Given the description of an element on the screen output the (x, y) to click on. 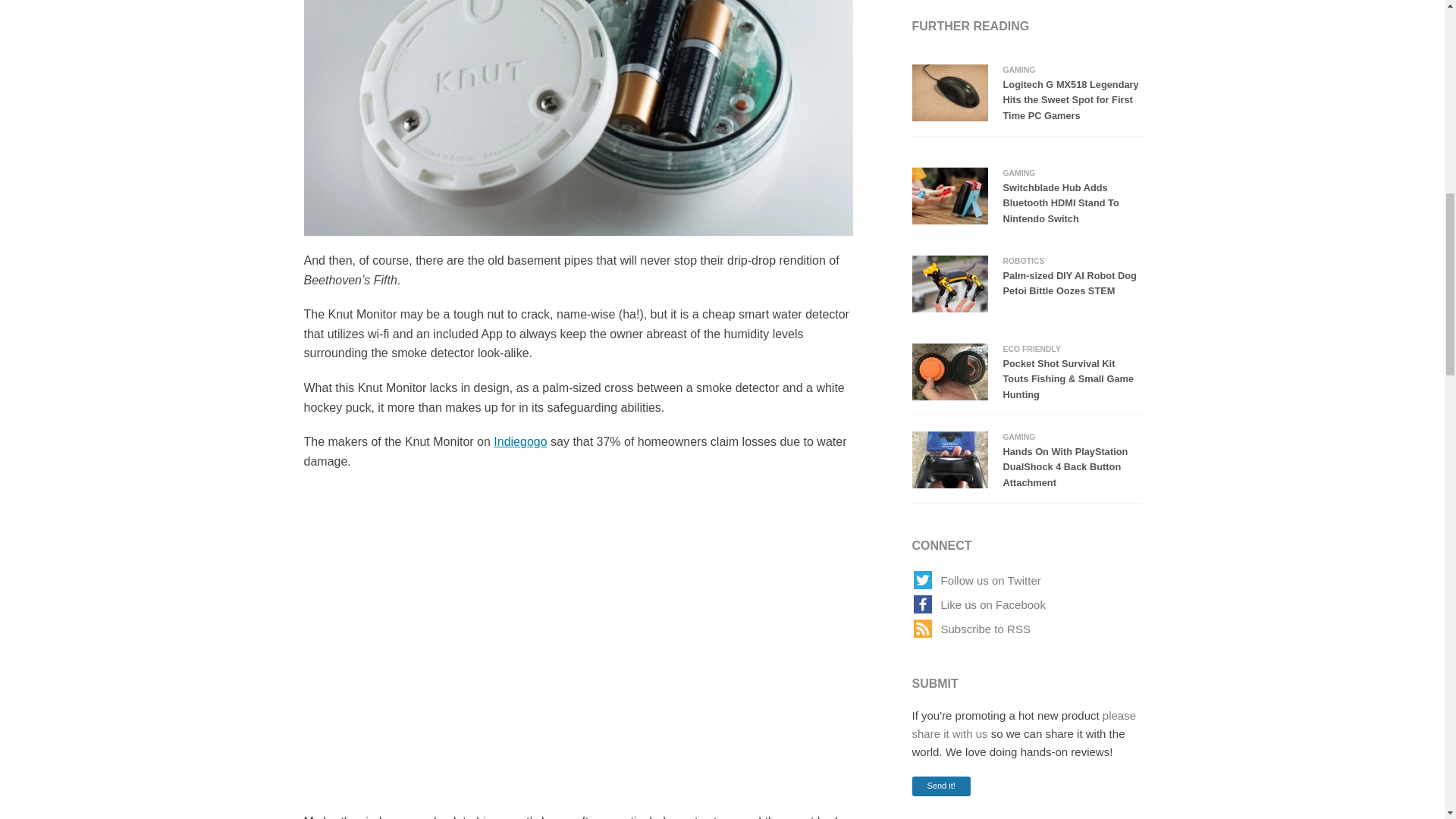
Indiegogo (520, 440)
